Given the description of an element on the screen output the (x, y) to click on. 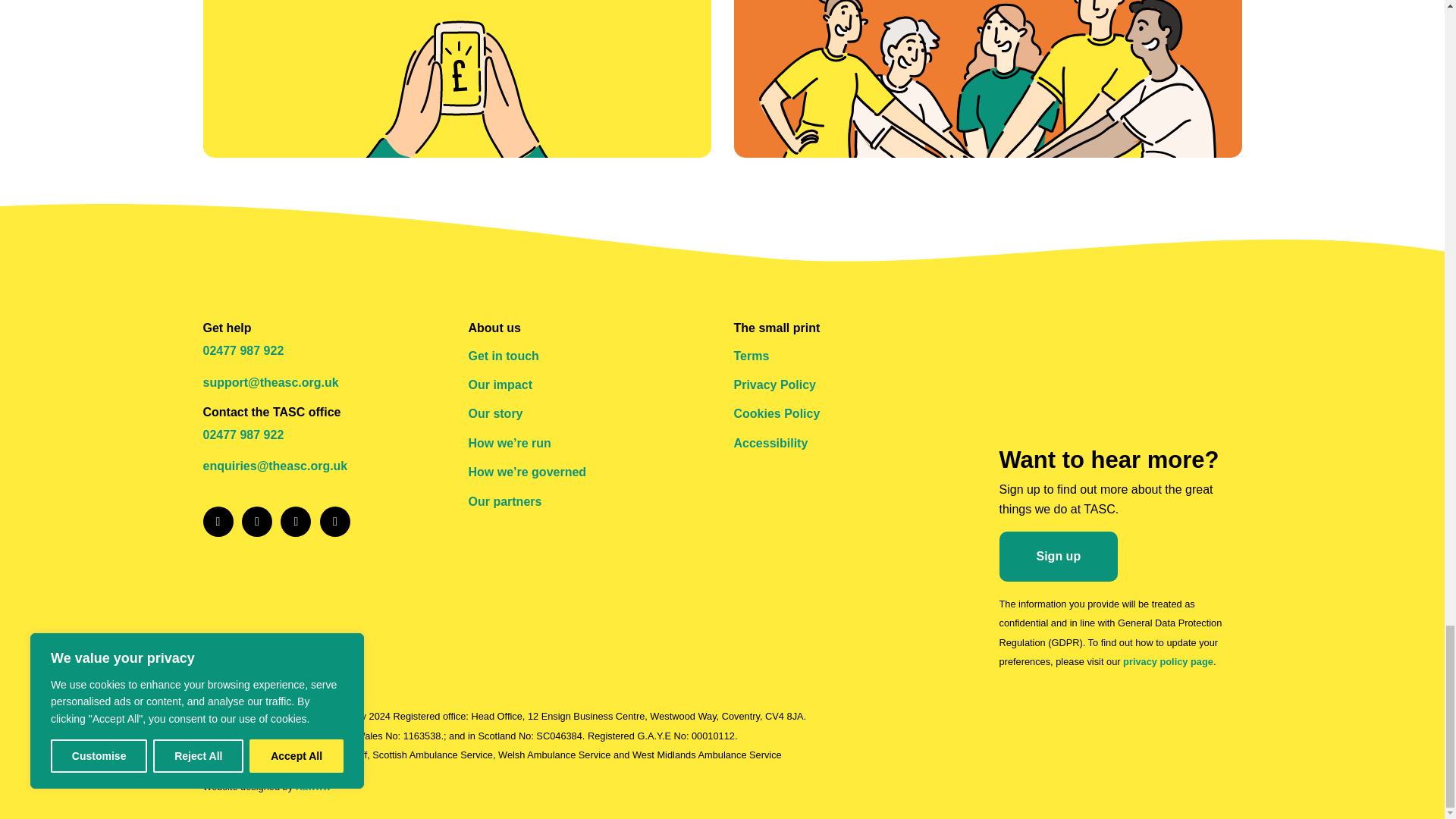
Independent creative agency in the Midlands (312, 786)
